Given the description of an element on the screen output the (x, y) to click on. 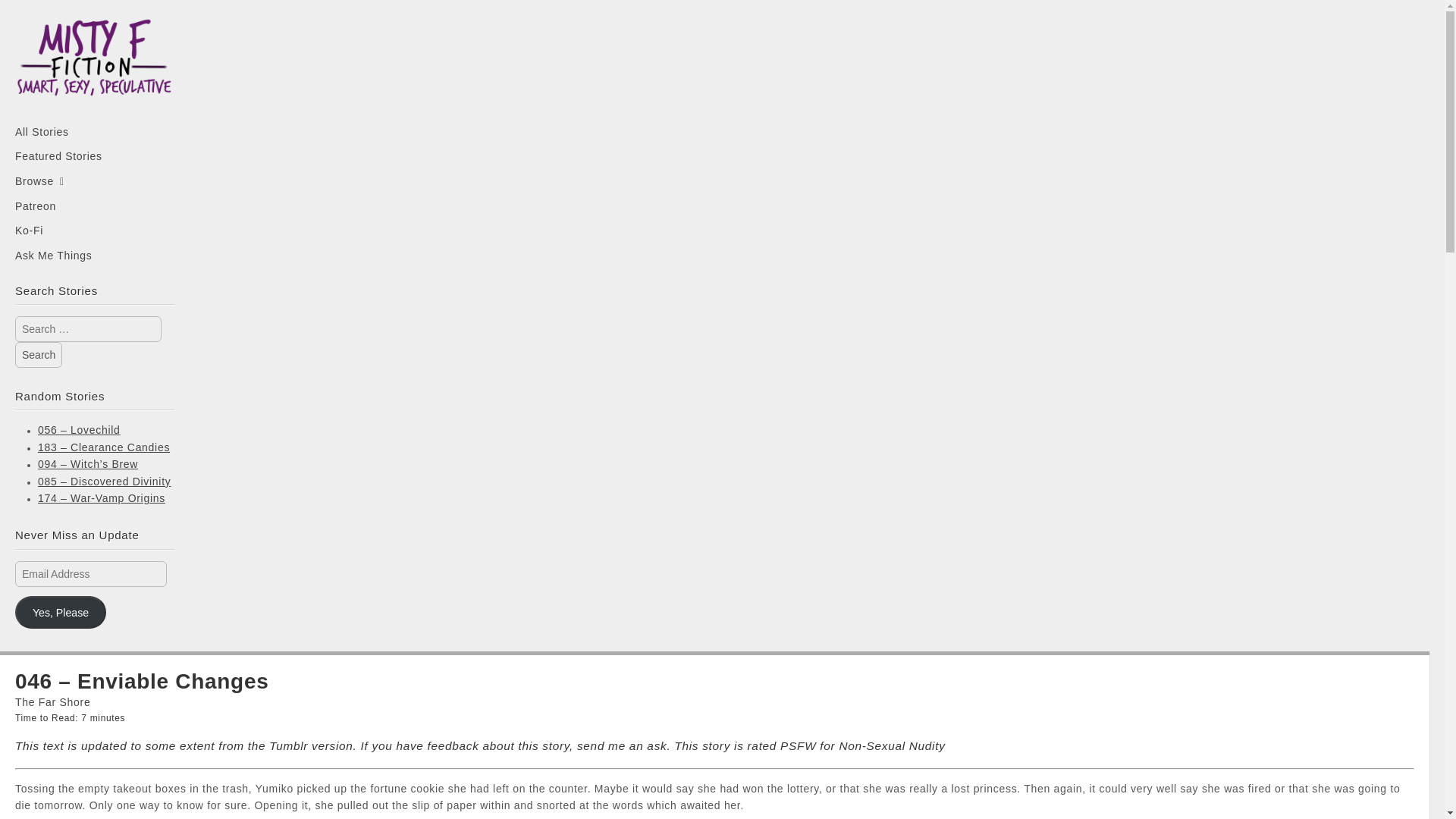
Search (38, 354)
Featured Stories (94, 156)
Patreon (94, 206)
PSFW (797, 745)
The Far Shore (52, 702)
Search (38, 354)
Browse (94, 181)
Non-Sexual Nudity (891, 745)
Ask Me Things (94, 255)
send me an ask (621, 745)
All Stories (94, 131)
Ko-Fi (94, 230)
Search (38, 354)
Misty F Fiction (94, 67)
